Given the description of an element on the screen output the (x, y) to click on. 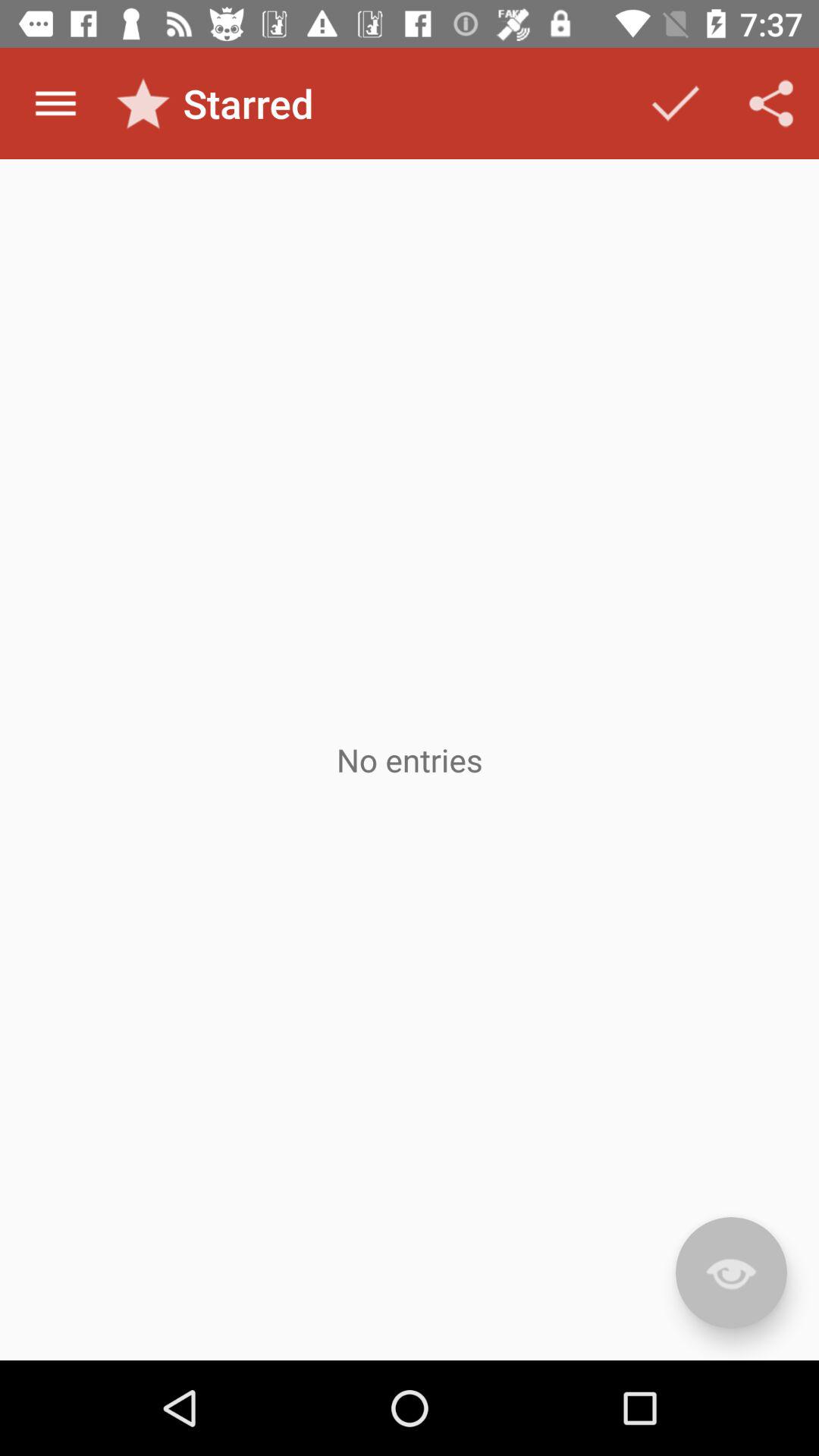
turn on item to the right of starred app (675, 103)
